Given the description of an element on the screen output the (x, y) to click on. 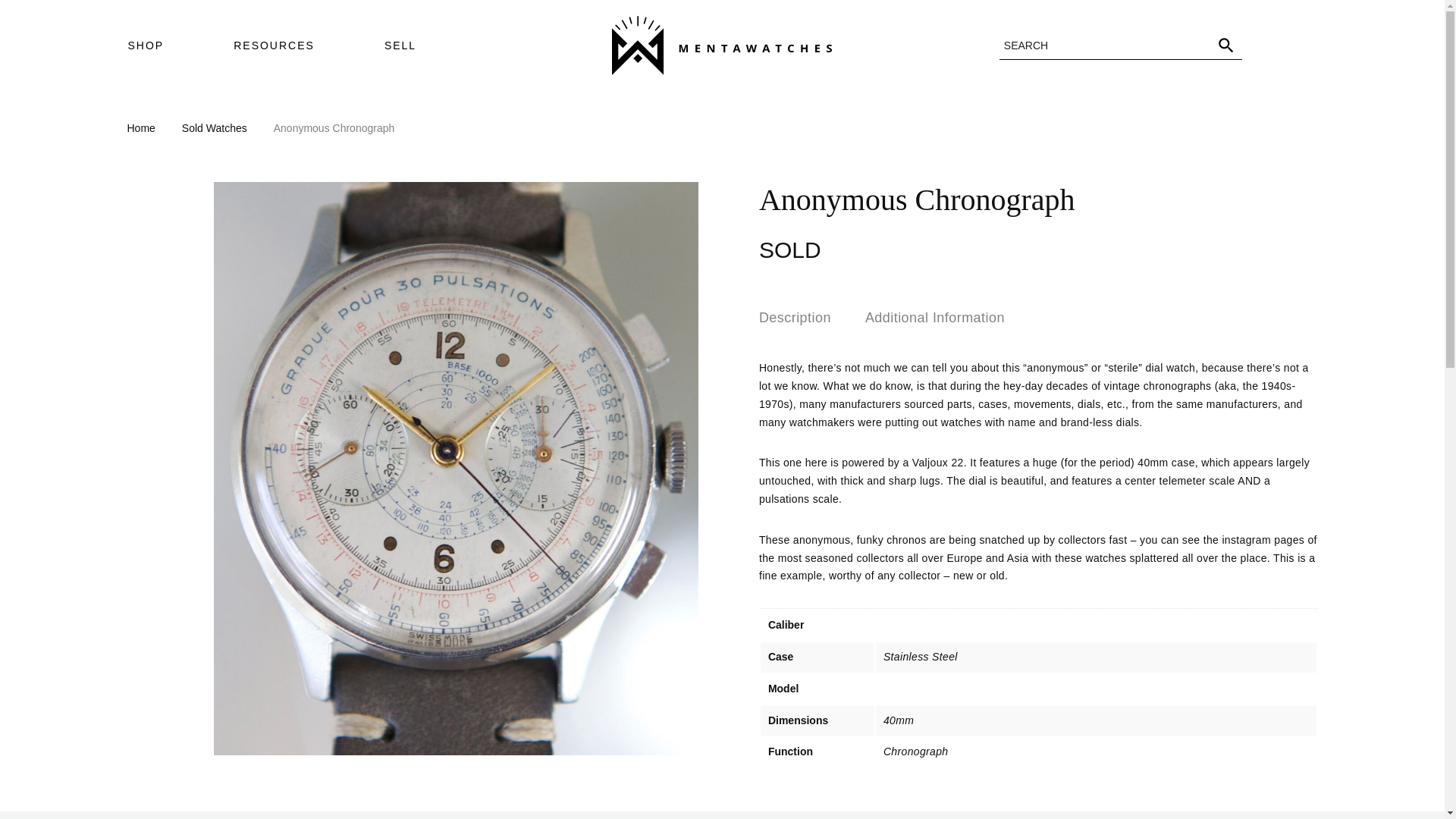
RESOURCES (273, 45)
SELL (400, 45)
SHOP (146, 45)
